Given the description of an element on the screen output the (x, y) to click on. 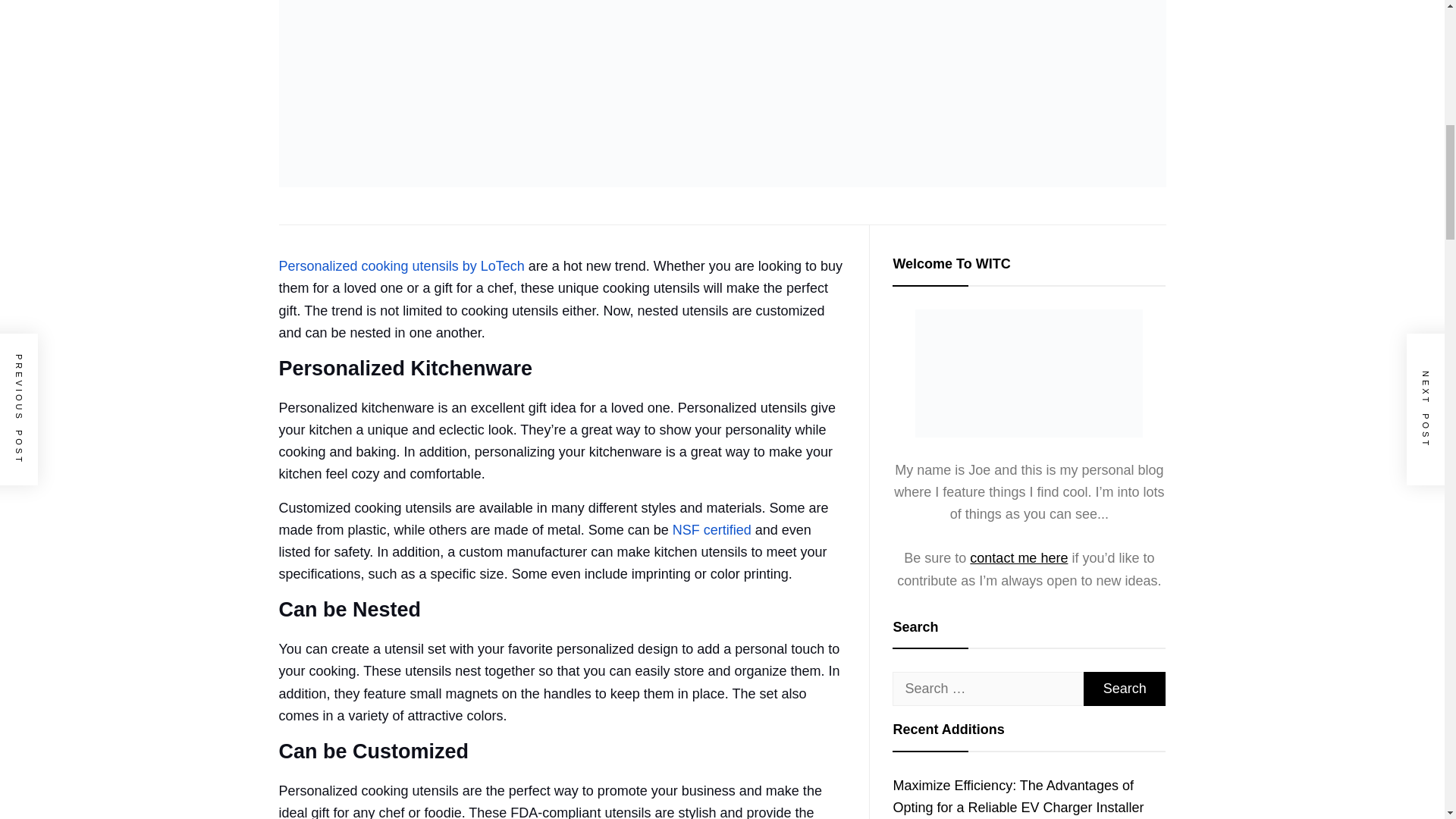
Search (1124, 688)
NSF certified (711, 529)
Search (1124, 688)
contact me here (1018, 557)
Personalized cooking utensils by LoTech (401, 265)
Search (1124, 688)
